Given the description of an element on the screen output the (x, y) to click on. 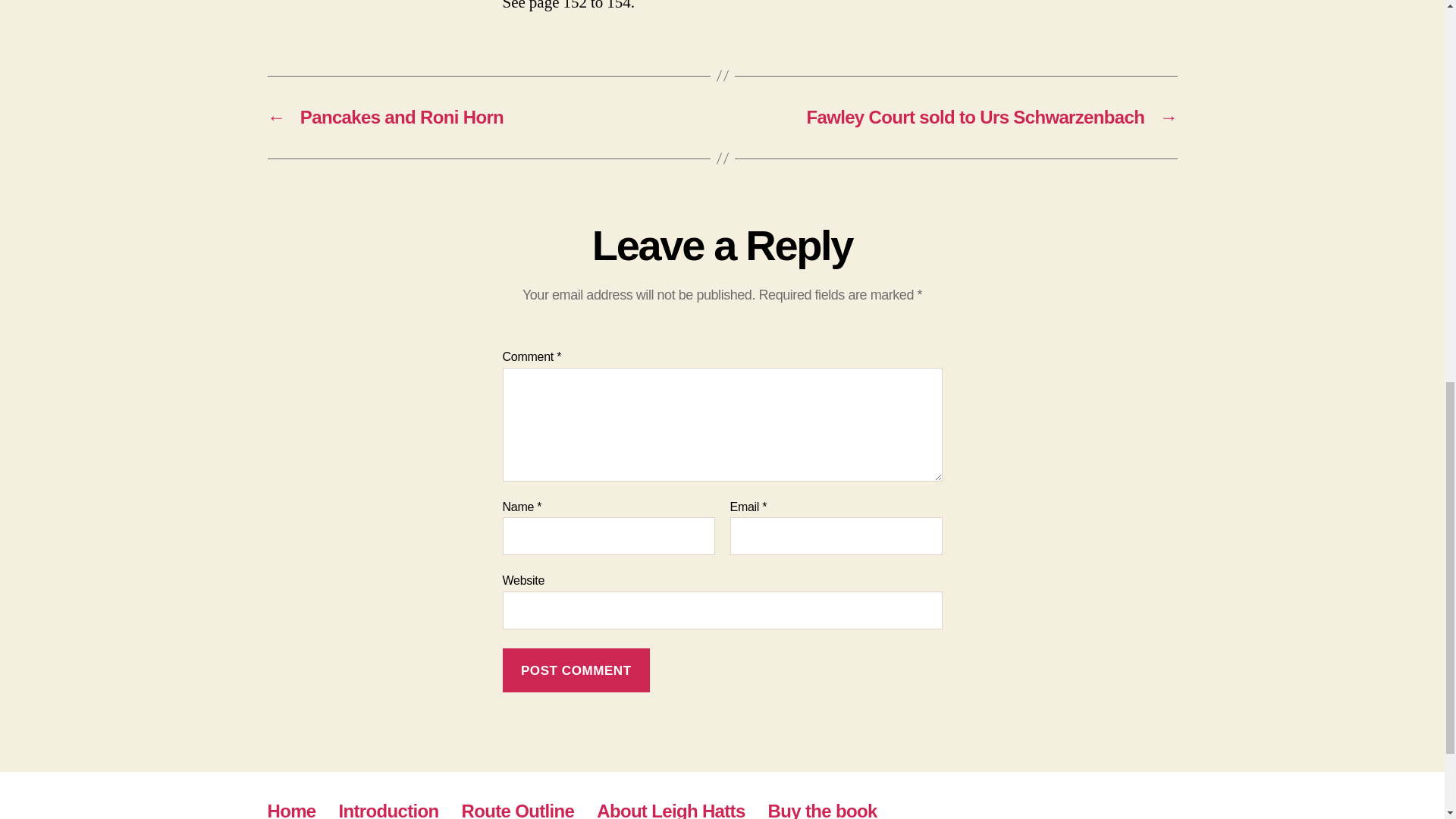
Route Outline (518, 809)
About Leigh Hatts (670, 809)
Buy the book (822, 809)
Home (290, 809)
Post Comment (575, 670)
Introduction (389, 809)
Post Comment (575, 670)
